Given the description of an element on the screen output the (x, y) to click on. 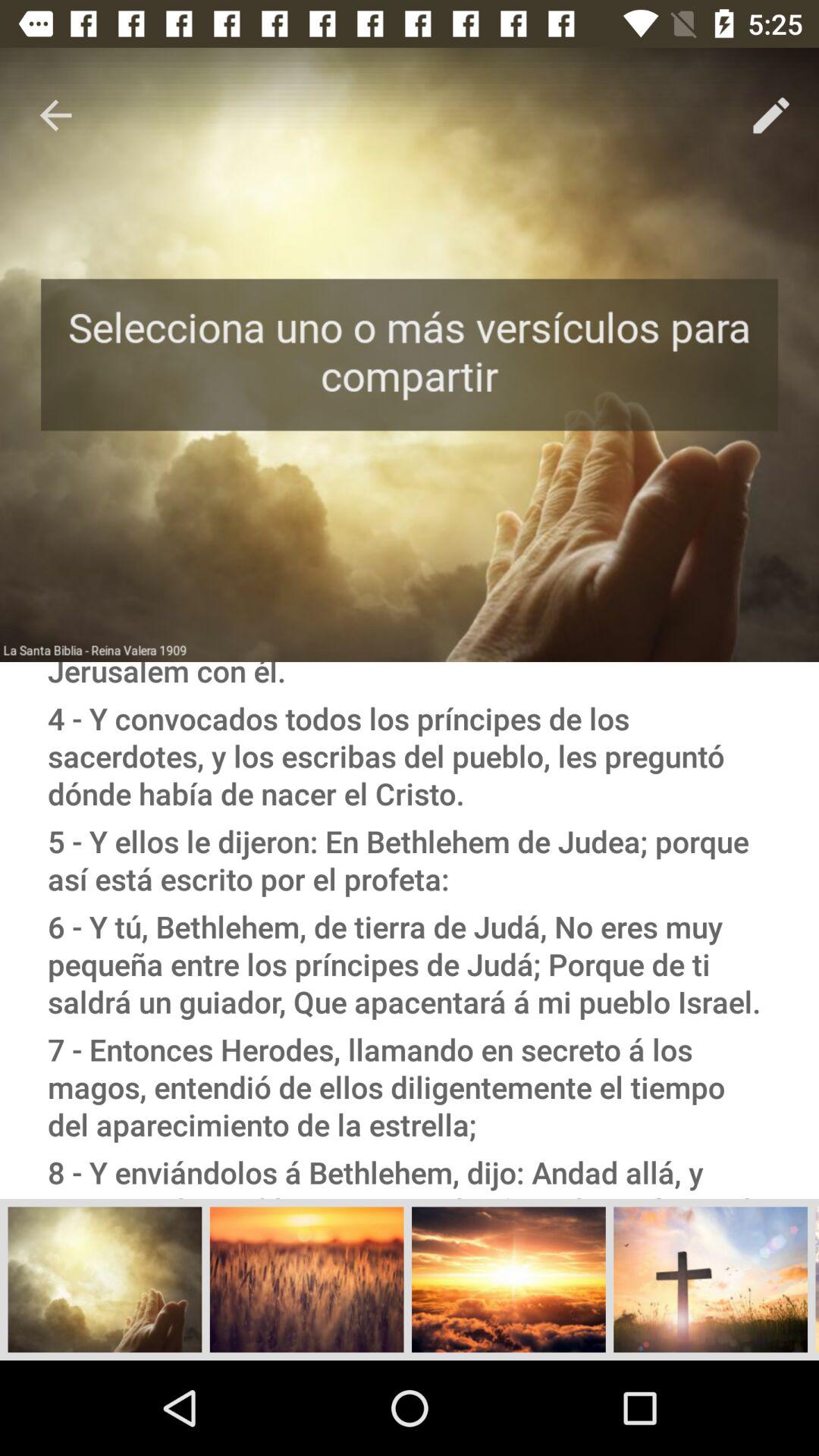
click the pencil icon below 525 (771, 114)
click on the third left image from bottom (508, 1279)
select the first image which is at the bottom of the page (104, 1279)
